Given the description of an element on the screen output the (x, y) to click on. 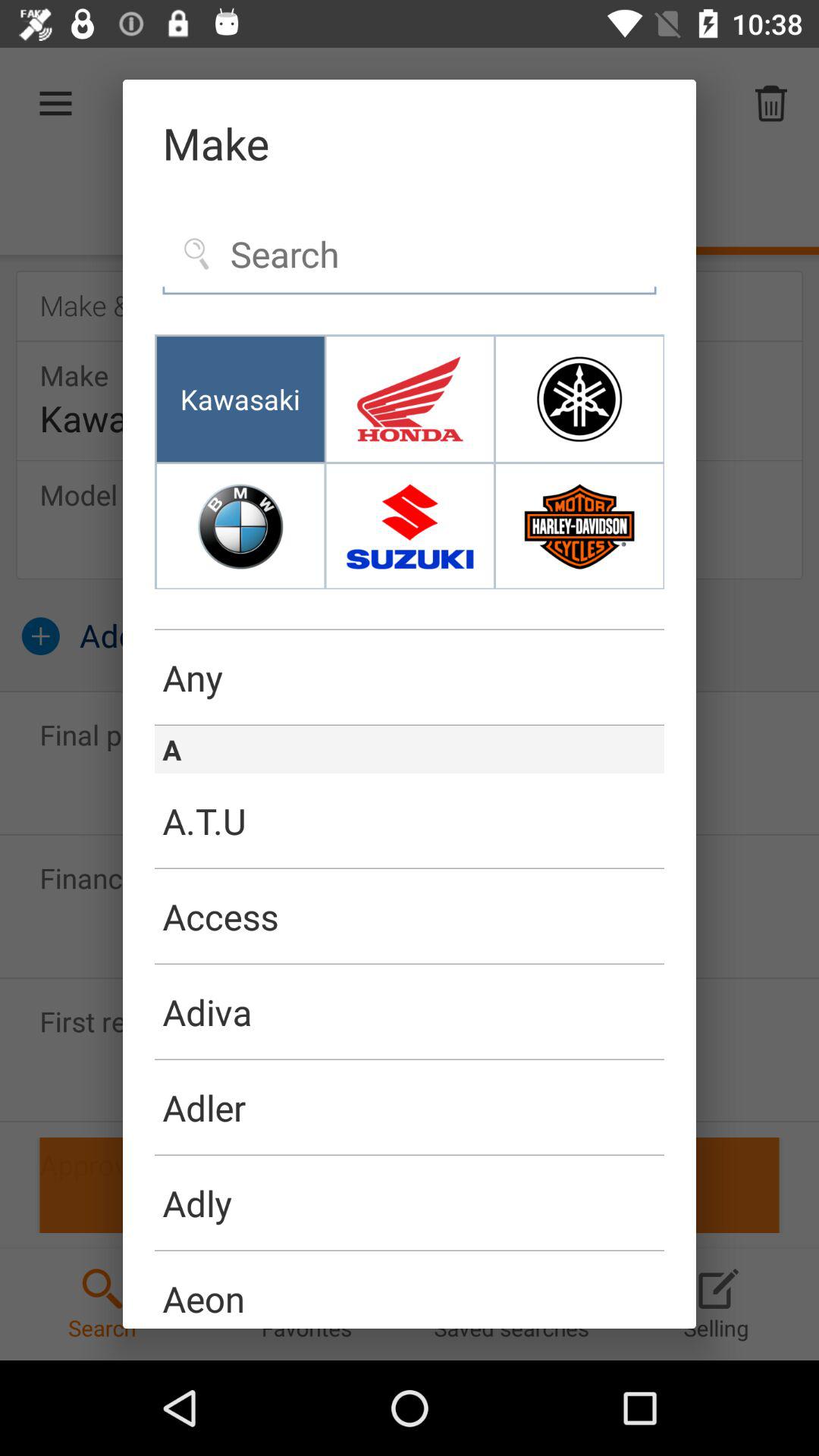
turn off the icon below any (409, 724)
